Given the description of an element on the screen output the (x, y) to click on. 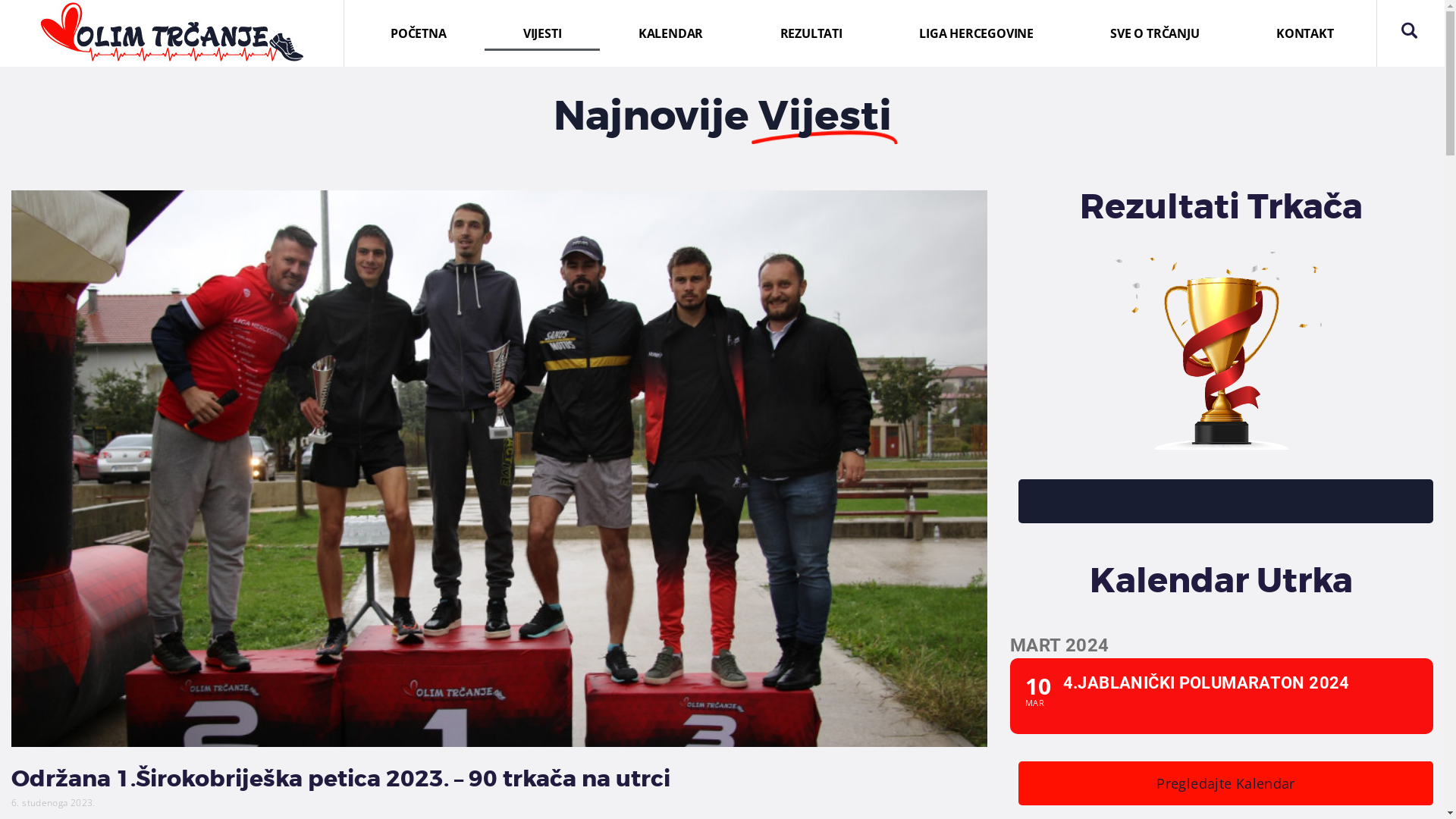
Pregledajte Kalendar Element type: text (1225, 783)
KONTAKT Element type: text (1304, 32)
LIGA HERCEGOVINE Element type: text (975, 32)
REZULTATI Element type: text (811, 32)
Pregledajte Rezultate Element type: text (1225, 501)
KALENDAR Element type: text (670, 32)
VIJESTI Element type: text (541, 32)
